Given the description of an element on the screen output the (x, y) to click on. 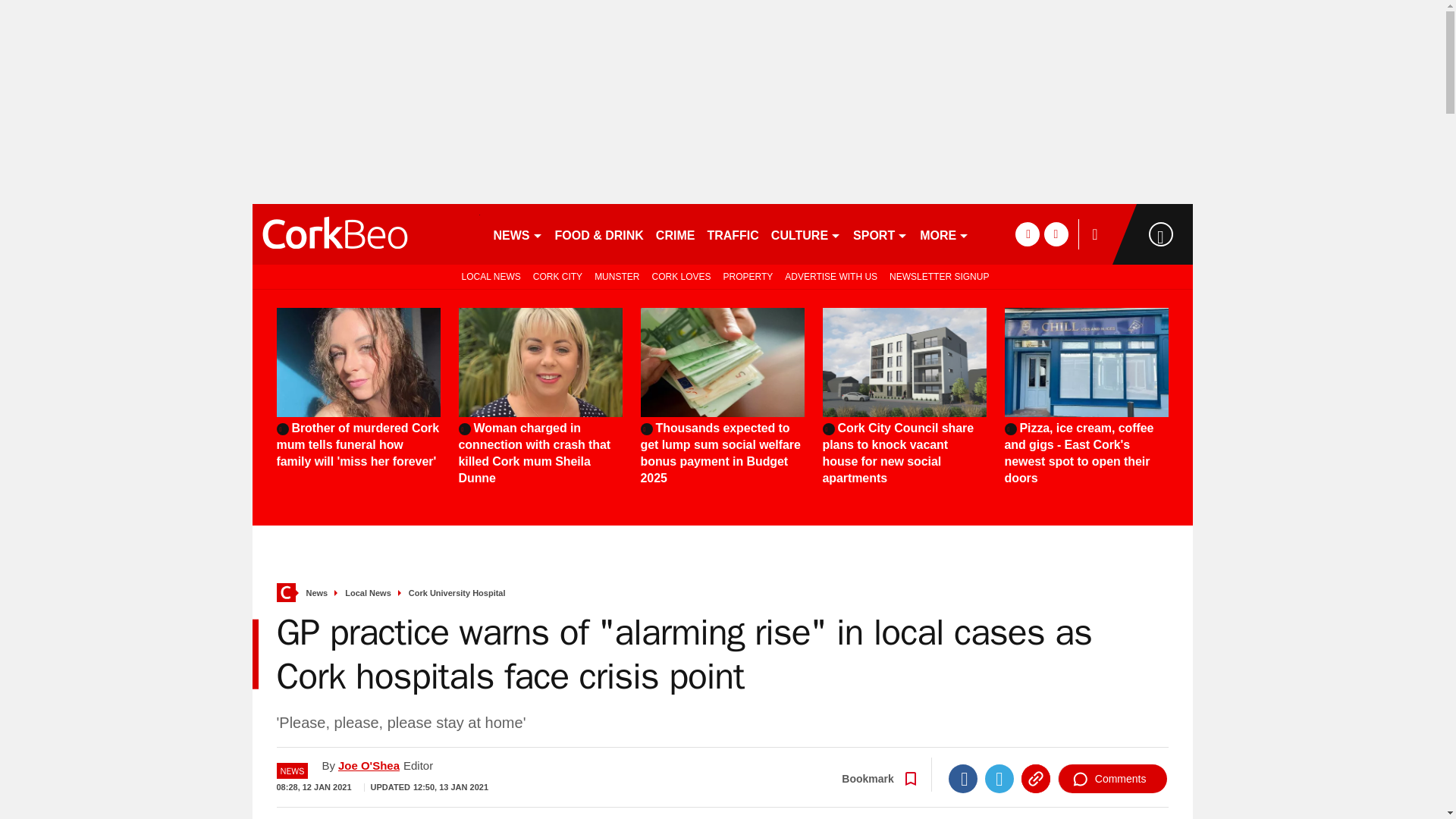
CORK LOVES (680, 275)
PROPERTY (747, 275)
NEWS (517, 233)
Facebook (962, 778)
Twitter (999, 778)
facebook (1026, 233)
TRAFFIC (732, 233)
CORK CITY (557, 275)
MUNSTER (616, 275)
ADVERTISE WITH US (830, 275)
